Given the description of an element on the screen output the (x, y) to click on. 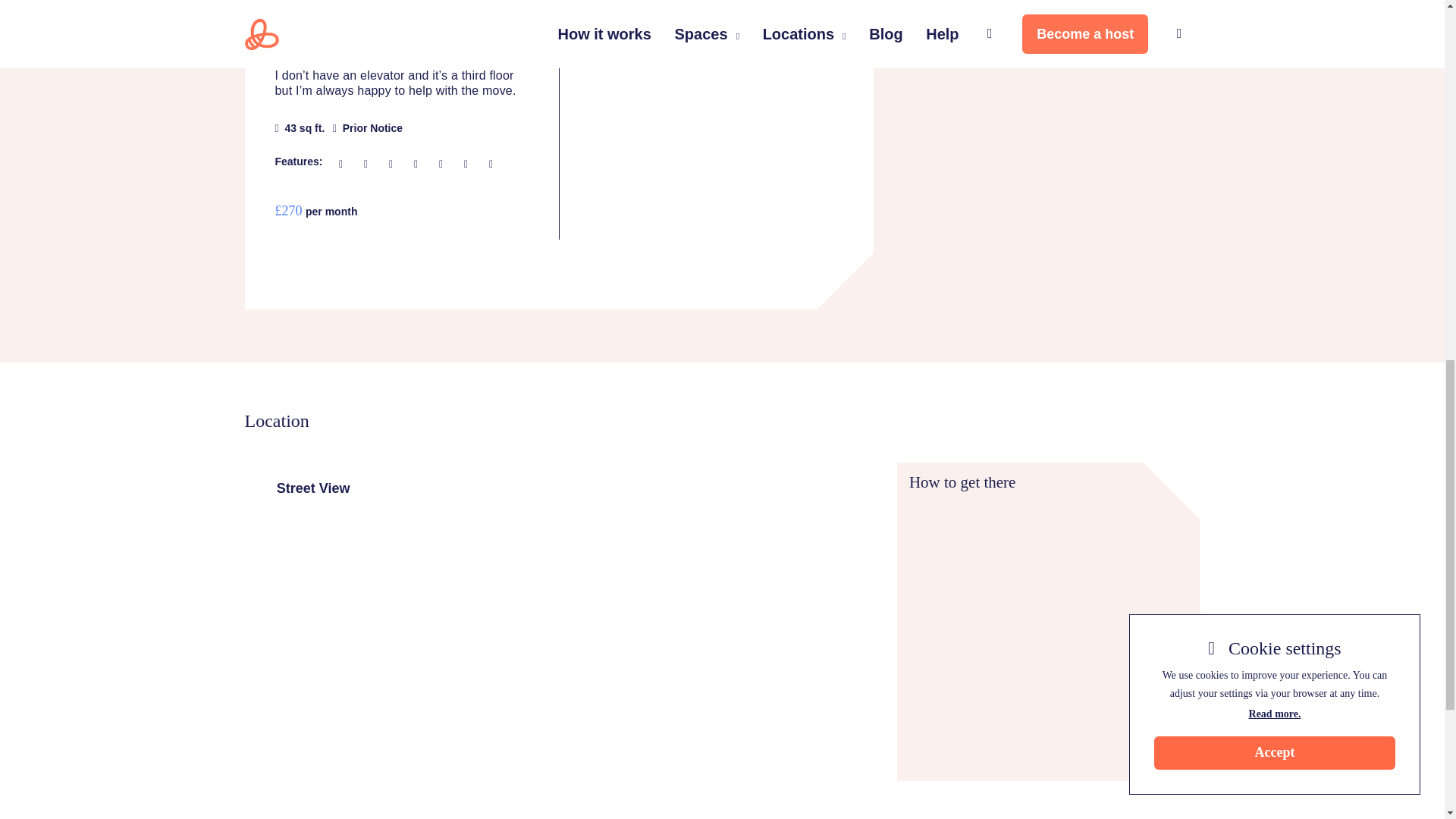
Electricity Normal Socket (395, 164)
Water Supply (494, 164)
Lighting (369, 164)
Heating (344, 164)
Smoke Detector (444, 164)
Climate Control (470, 164)
Fire Alarm (419, 164)
